Given the description of an element on the screen output the (x, y) to click on. 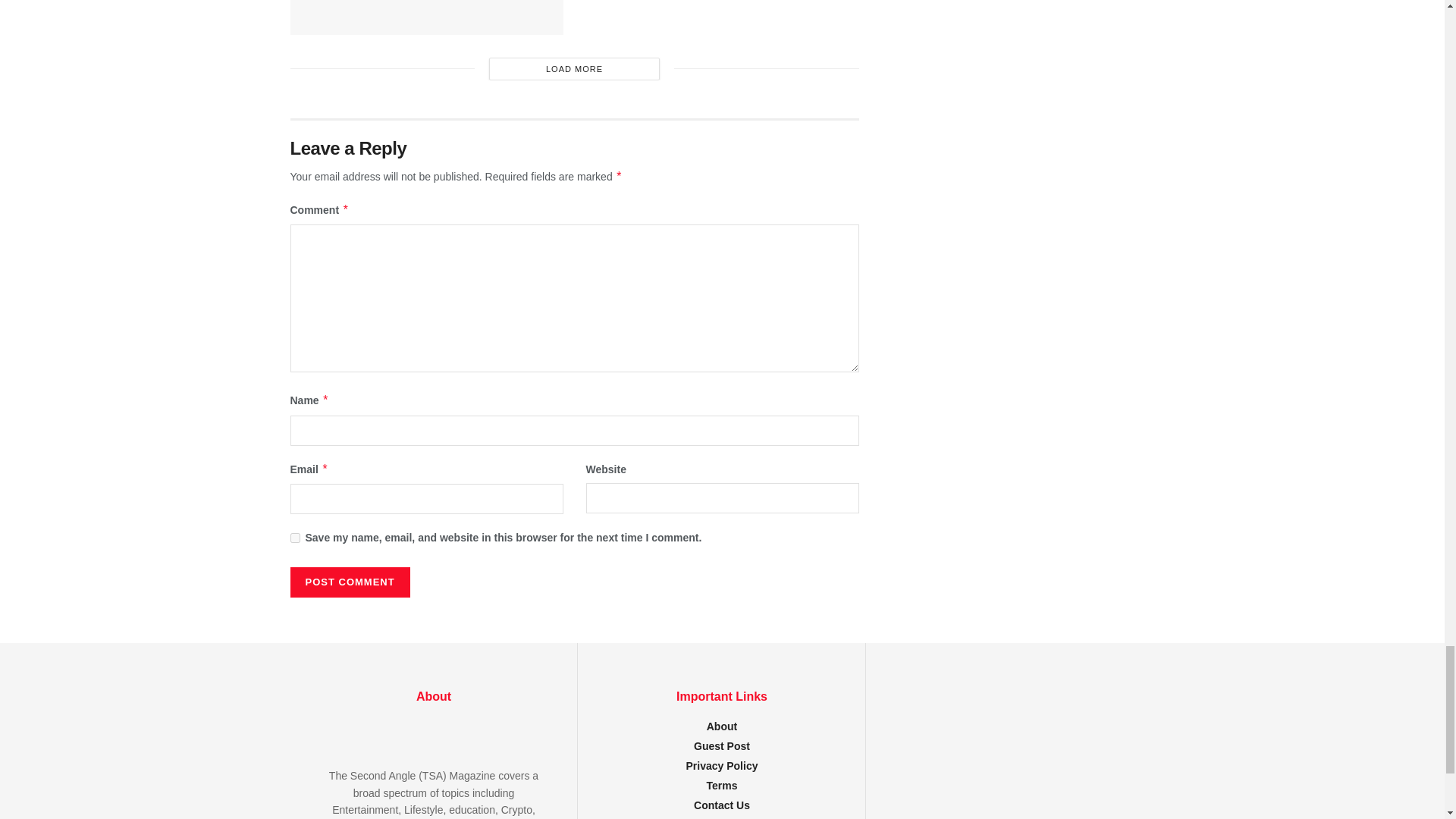
yes (294, 537)
Post Comment (349, 582)
